Given the description of an element on the screen output the (x, y) to click on. 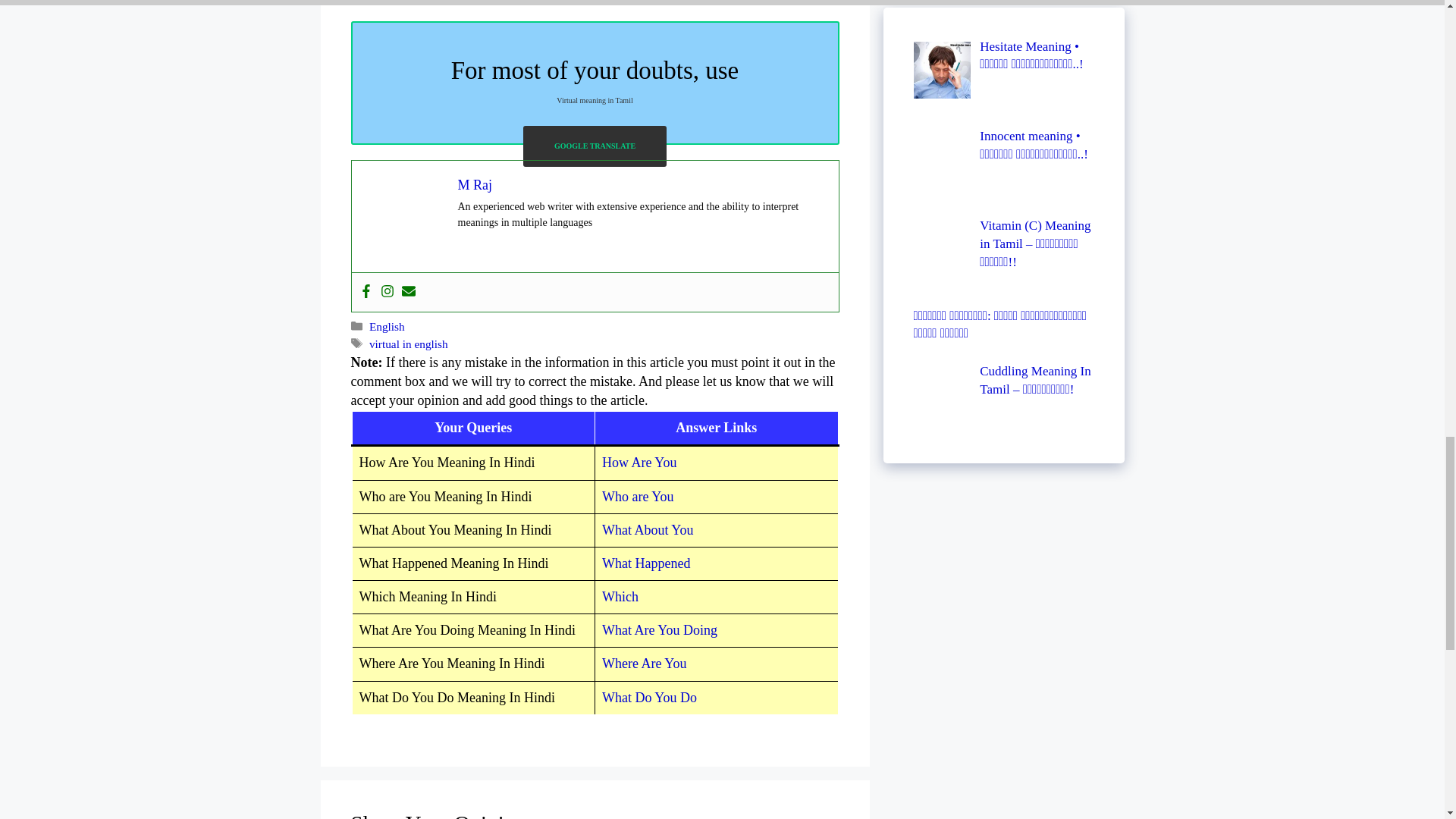
virtual in english (408, 343)
M Raj (475, 184)
English (386, 326)
GOOGLE TRANSLATE (594, 146)
